Given the description of an element on the screen output the (x, y) to click on. 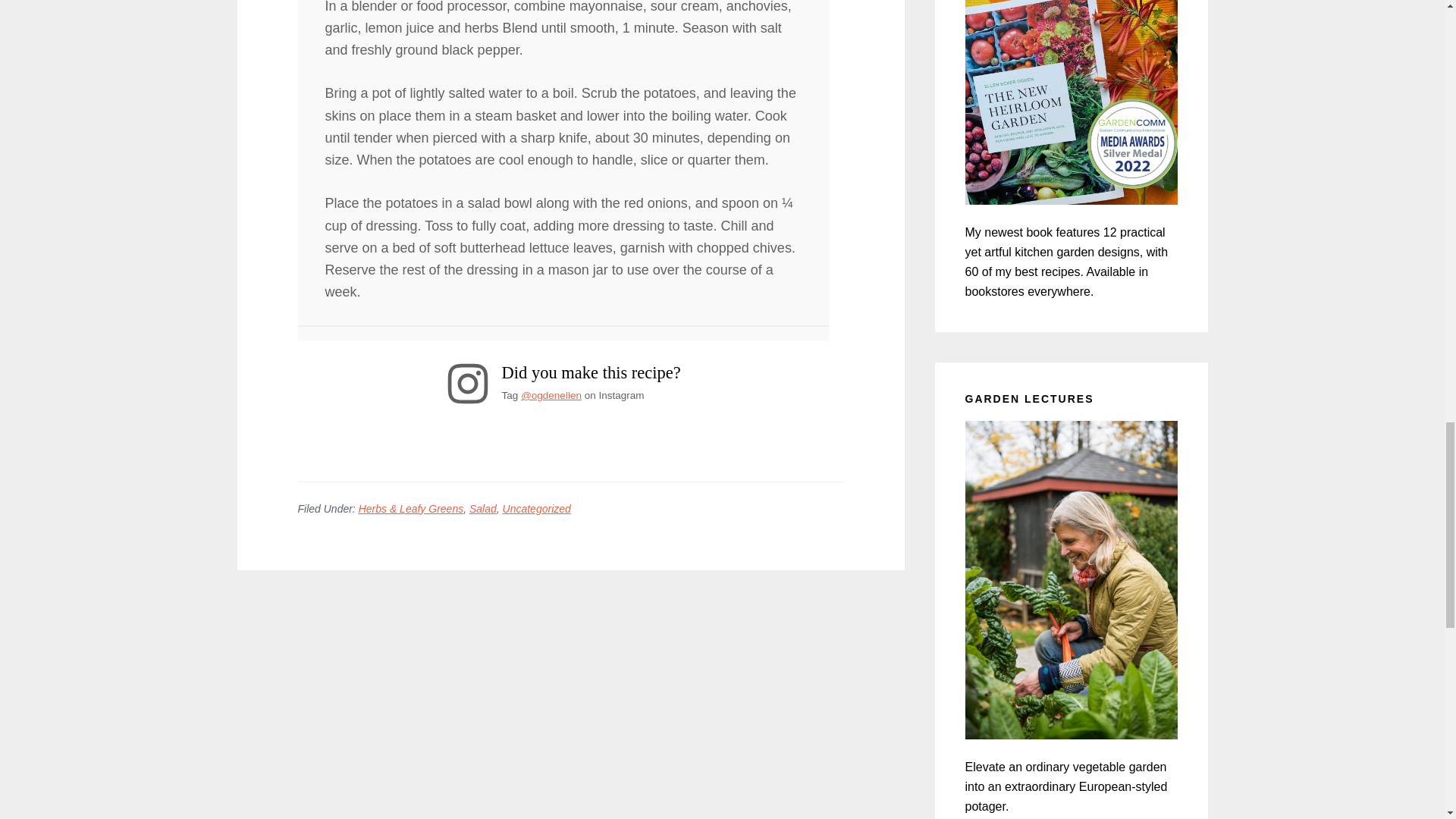
Salad (482, 508)
